Given the description of an element on the screen output the (x, y) to click on. 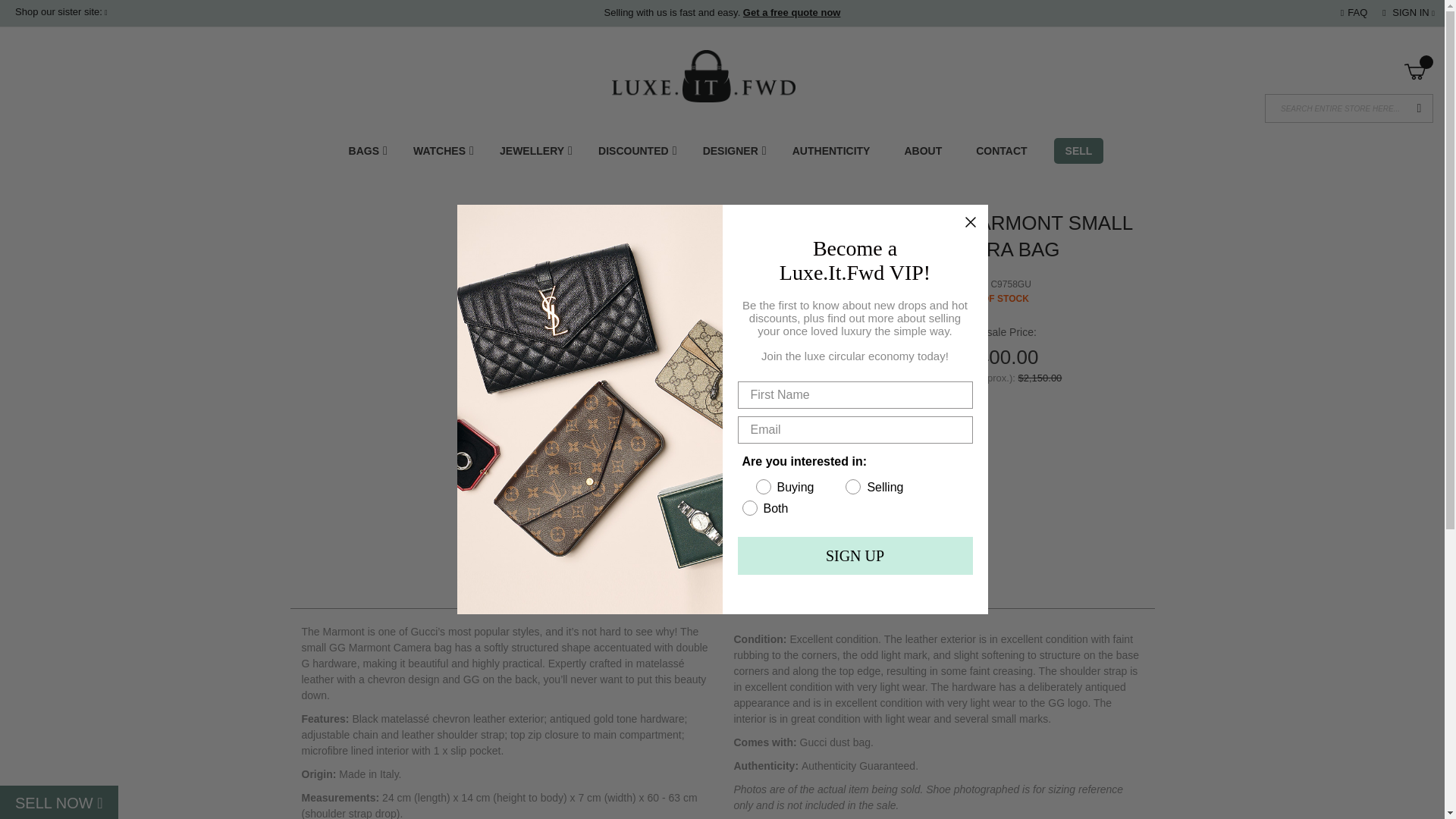
BAGS (368, 150)
WATCHES (445, 150)
FAQ (1353, 12)
Search (1419, 108)
My Cart (1414, 72)
Selling with us is fast and easy. Get a free quote now (722, 12)
